Given the description of an element on the screen output the (x, y) to click on. 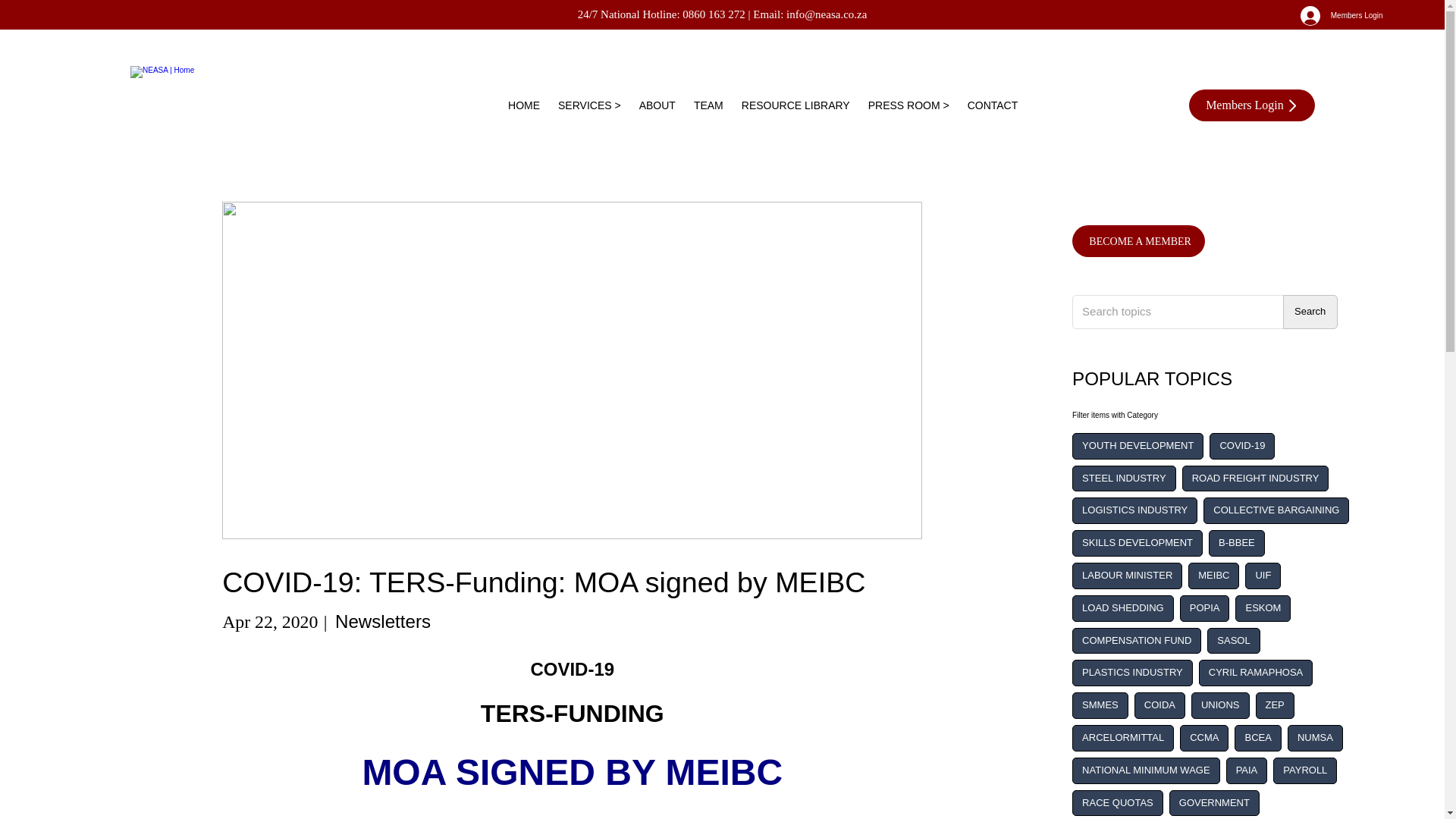
HOME (524, 104)
RESOURCE LIBRARY (795, 104)
Members Login (1341, 15)
Search (1310, 311)
